Given the description of an element on the screen output the (x, y) to click on. 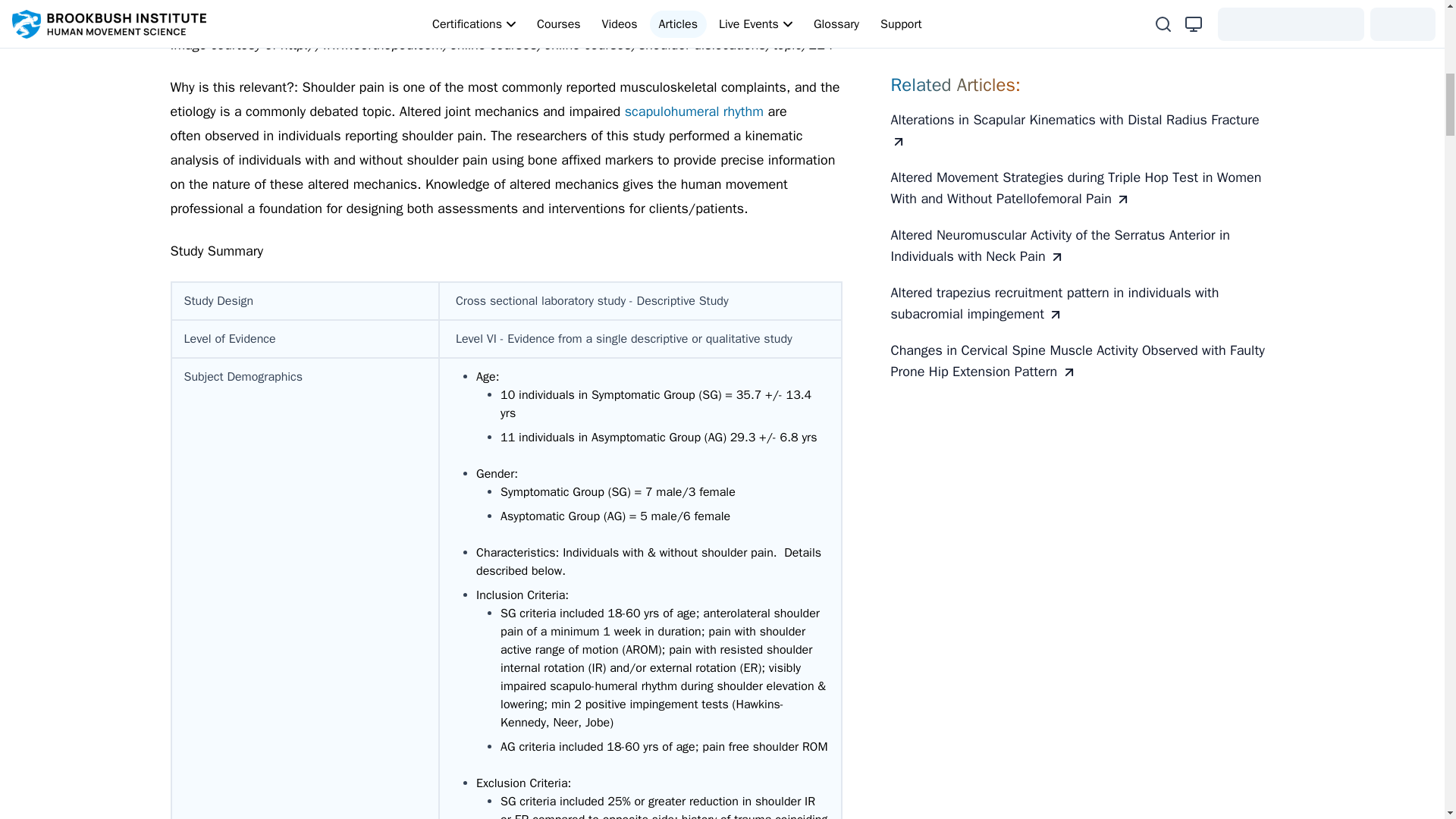
scapulohumeral rhythm (696, 111)
